Given the description of an element on the screen output the (x, y) to click on. 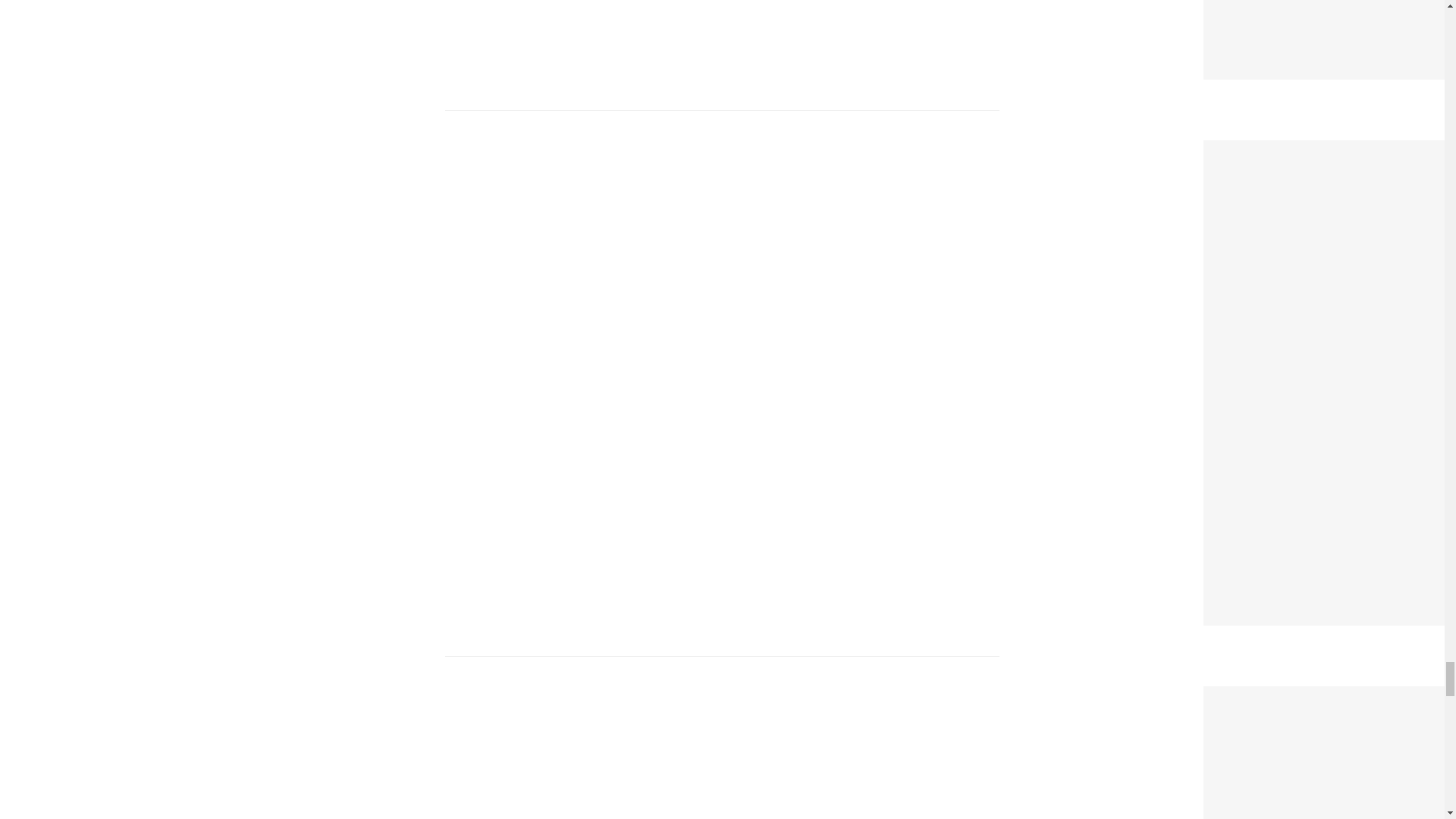
Aesthetic Christmas Wallpaper (1303, 150)
Christmas Wallpaper Hello Kitty Red (1321, 695)
